Given the description of an element on the screen output the (x, y) to click on. 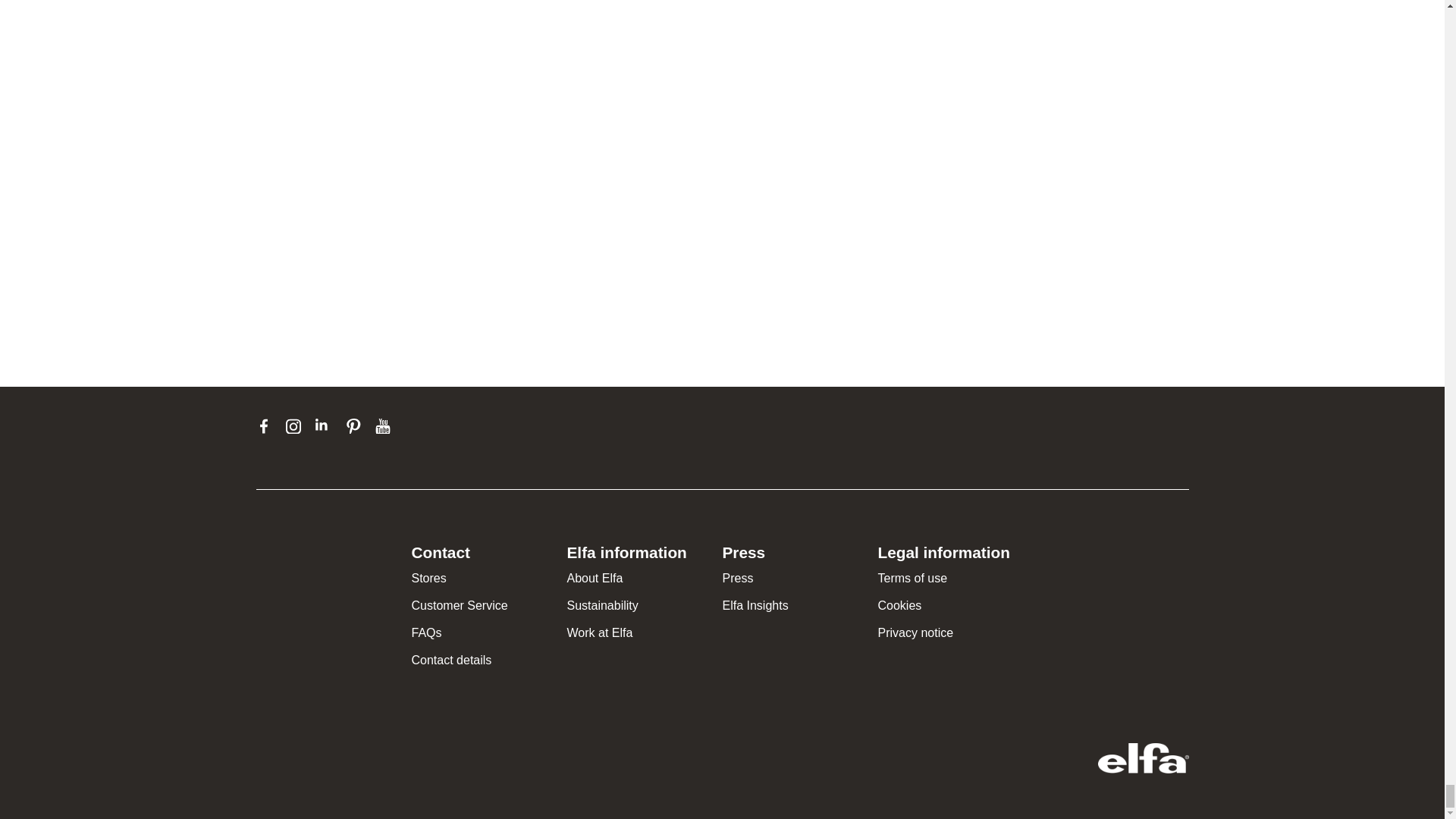
Privacy notice (915, 632)
Sustainability (603, 604)
Work at Elfa (600, 632)
FAQs (425, 632)
Cookies (899, 604)
Customer Service  (458, 604)
Terms of use (912, 577)
Stores (427, 577)
Press (737, 577)
Contact details (451, 659)
